Given the description of an element on the screen output the (x, y) to click on. 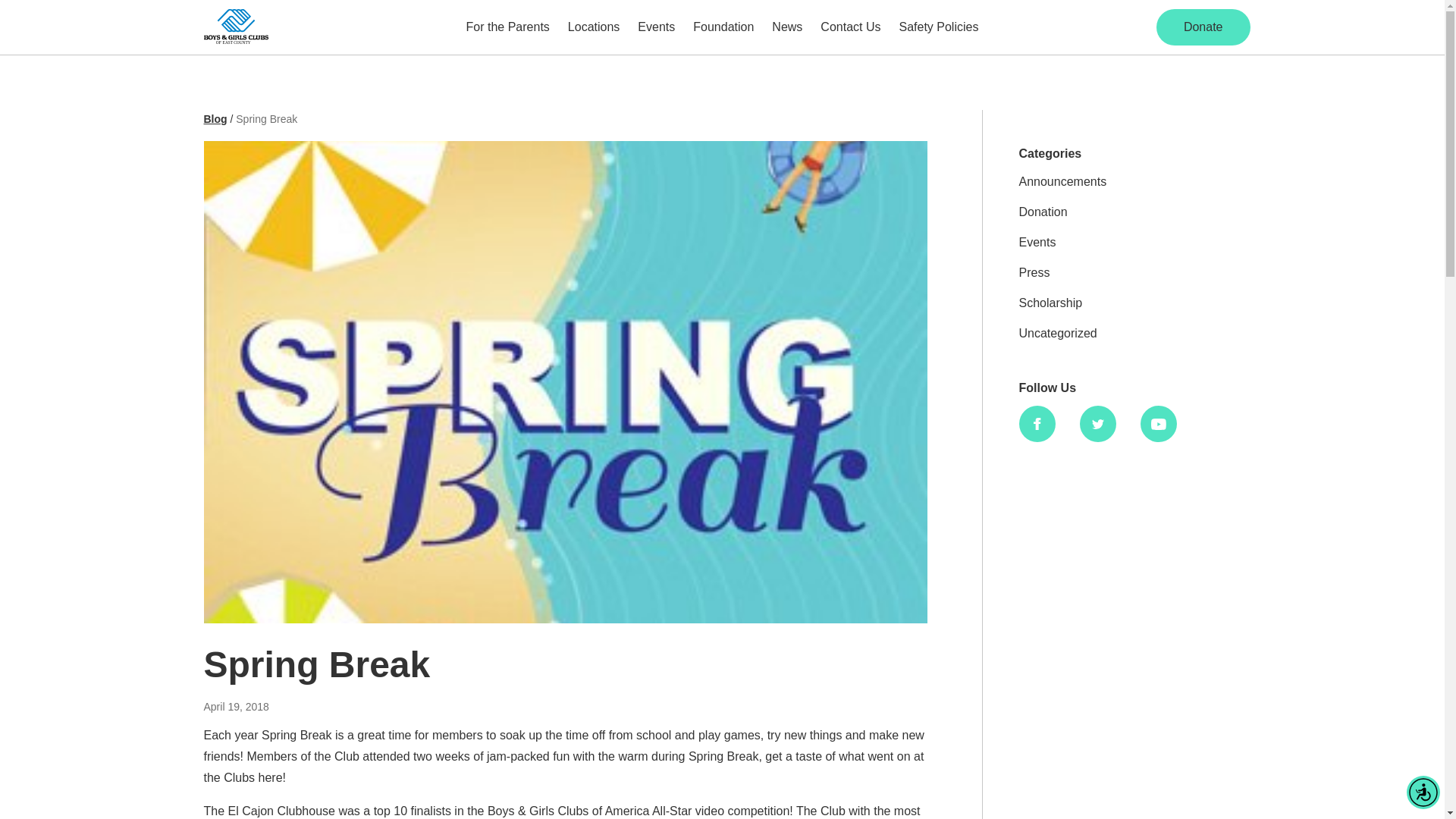
Accessibility Menu (1422, 792)
For the Parents (508, 27)
Foundation (723, 27)
Donate (1203, 27)
Locations (593, 27)
Scholarship (1051, 302)
Announcements (1062, 181)
Press (1034, 272)
Events (656, 27)
Blog (215, 119)
